Given the description of an element on the screen output the (x, y) to click on. 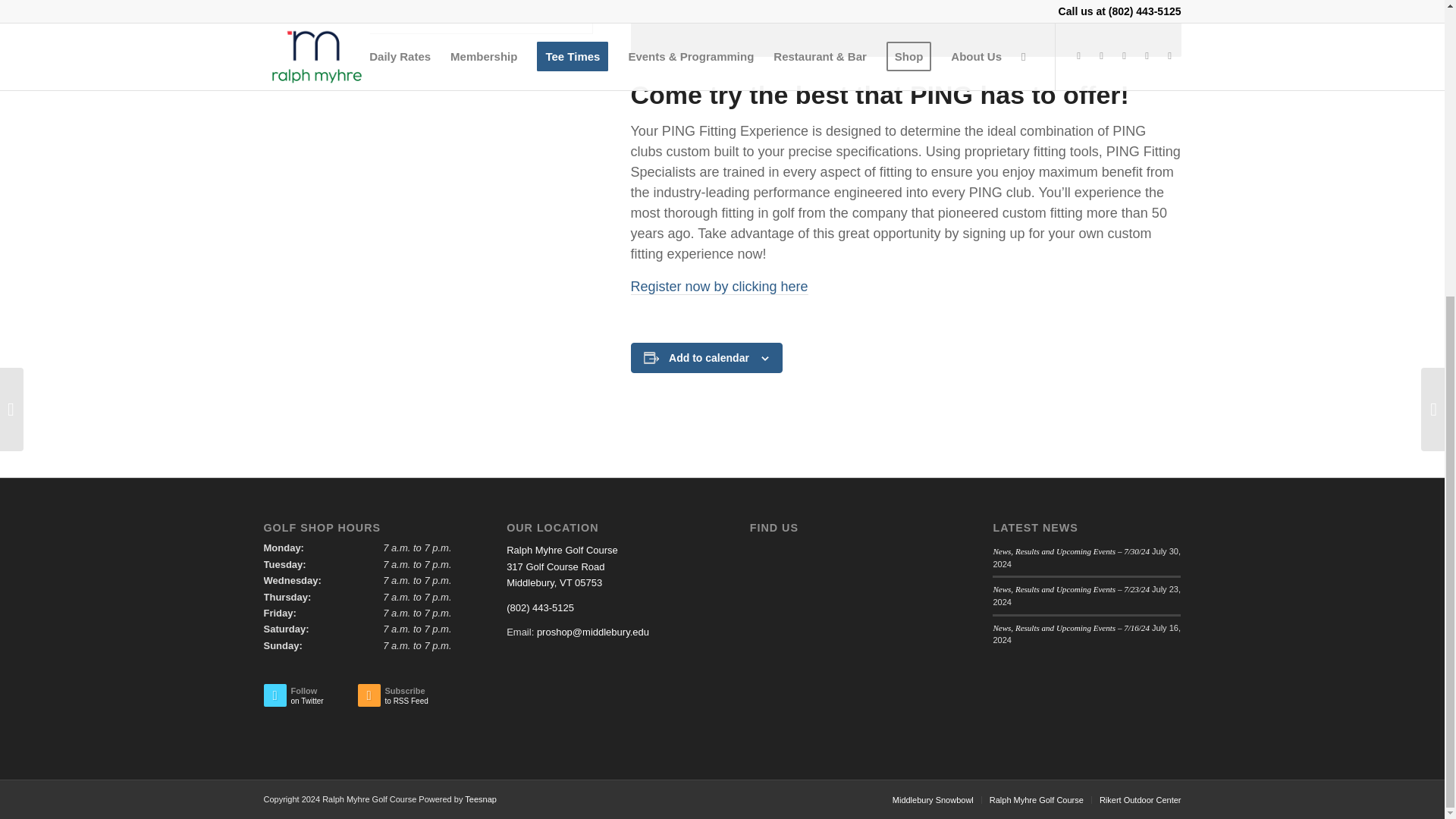
Register now by clicking here (719, 286)
Add to calendar (708, 357)
